Given the description of an element on the screen output the (x, y) to click on. 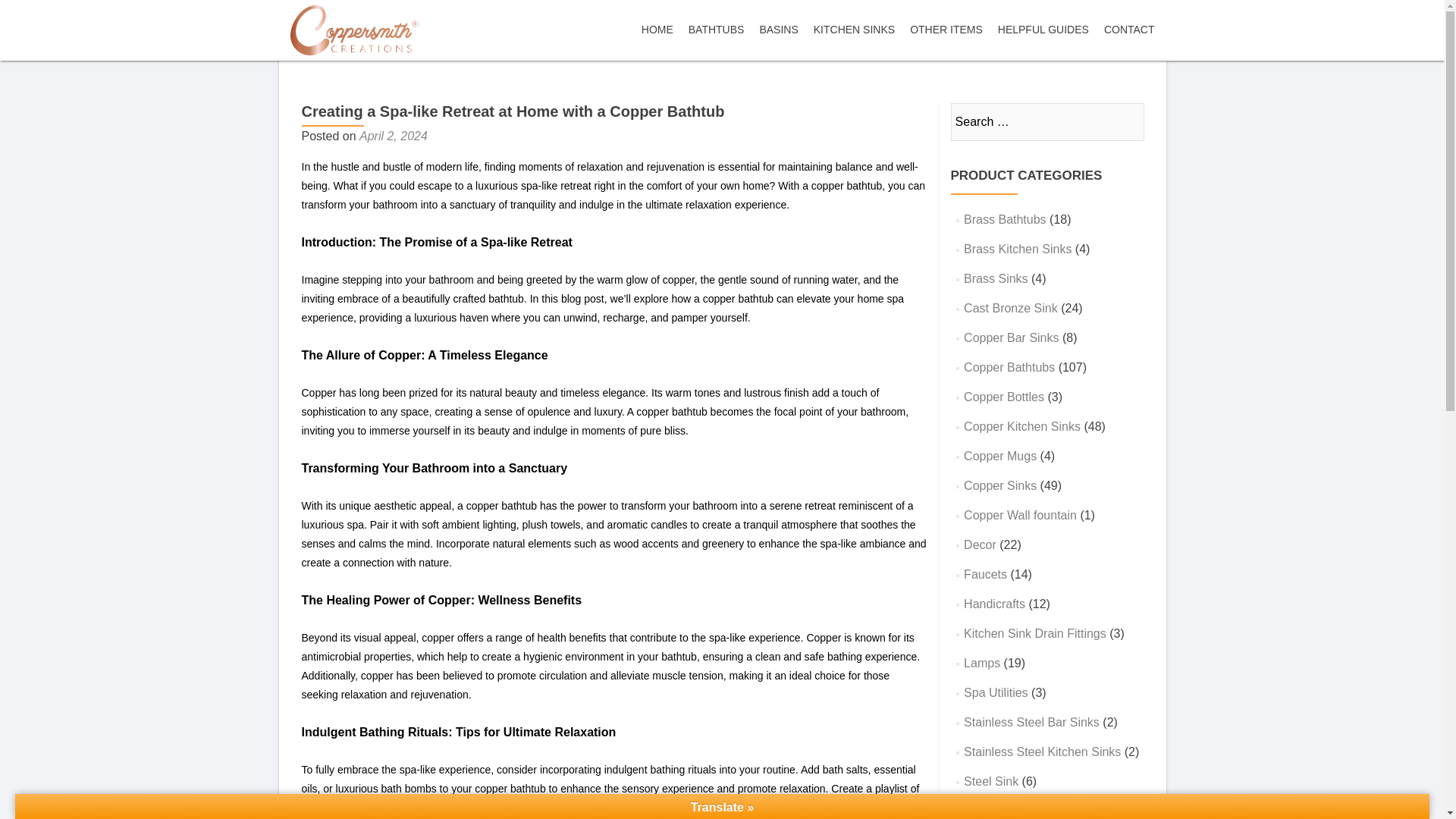
HELPFUL GUIDES (1043, 30)
BATHTUBS (716, 30)
Search (1125, 120)
Search (1125, 120)
BASINS (777, 30)
HOME (657, 30)
OTHER ITEMS (946, 30)
KITCHEN SINKS (854, 30)
